Given the description of an element on the screen output the (x, y) to click on. 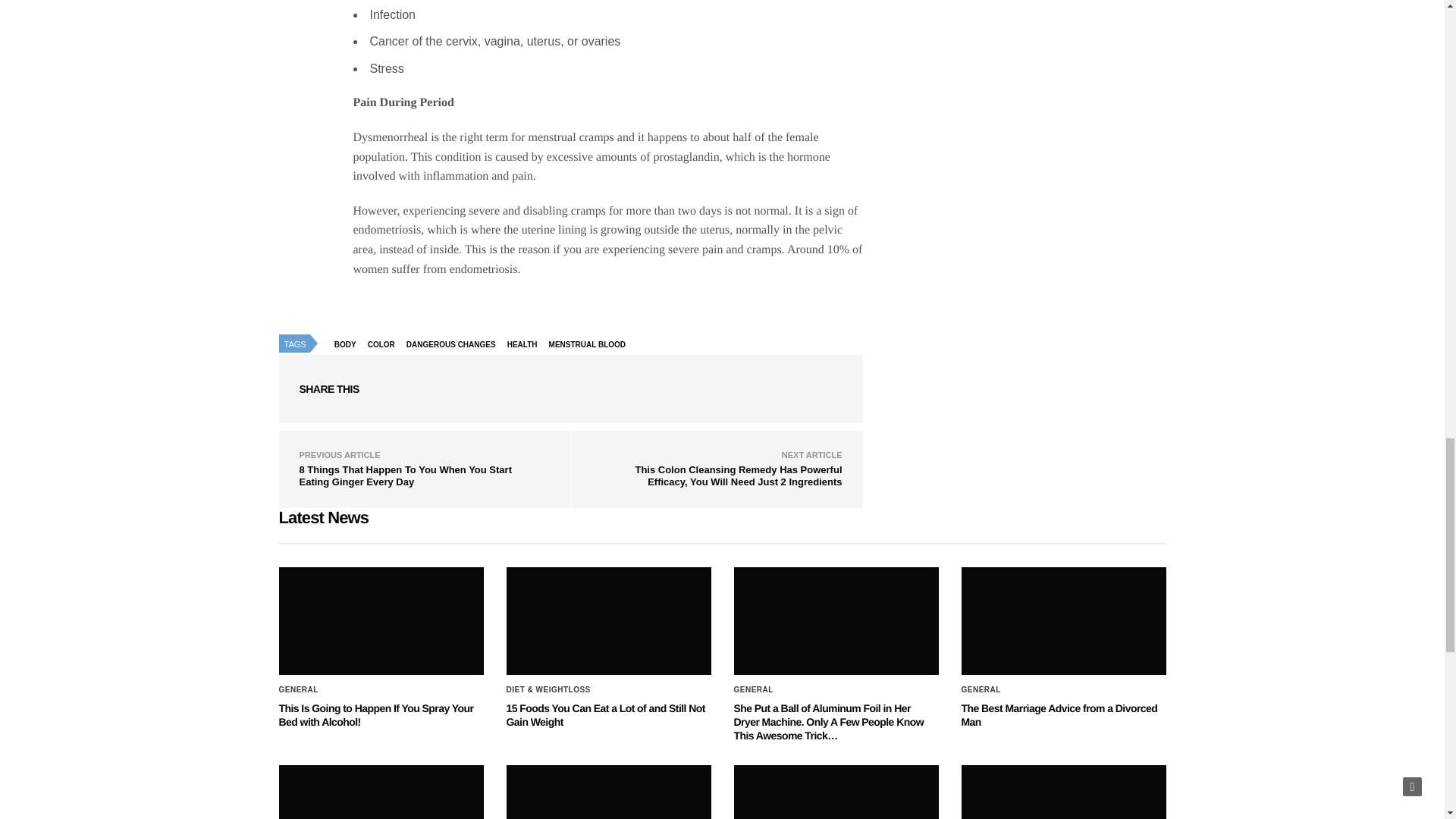
This Is Going to Happen If You Spray Your Bed with Alcohol! (381, 620)
This Is Going to Happen If You Spray Your Bed with Alcohol! (376, 714)
COLOR (384, 344)
GENERAL (298, 689)
15 Foods You Can Eat a Lot of and Still Not Gain Weight (608, 620)
DANGEROUS CHANGES (454, 344)
MENSTRUAL BLOOD (590, 344)
GENERAL (753, 689)
